Given the description of an element on the screen output the (x, y) to click on. 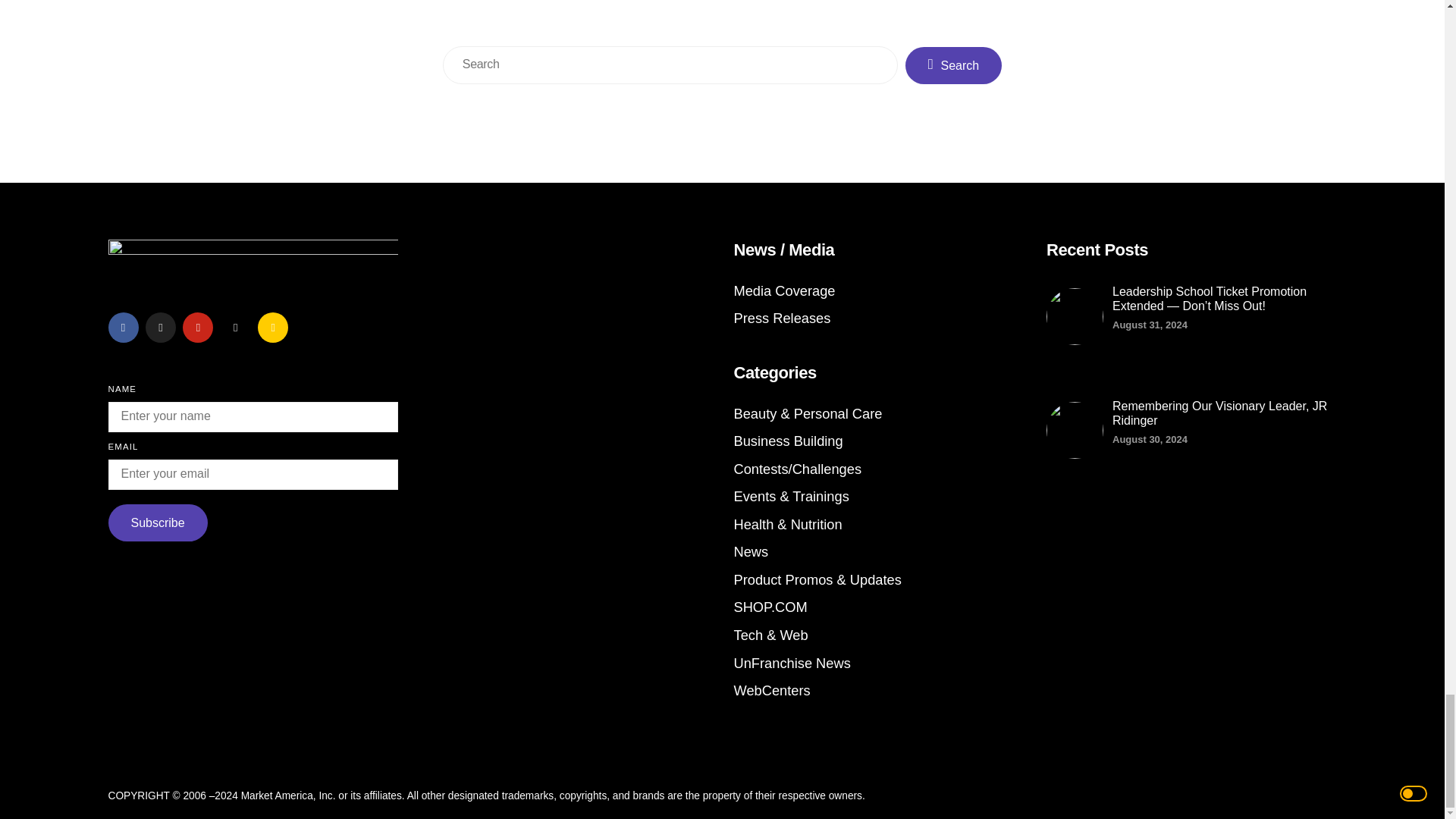
Subscribe (156, 522)
Instagram (235, 327)
FeedBurner (272, 327)
Pinterest (197, 327)
Facebook (122, 327)
